Given the description of an element on the screen output the (x, y) to click on. 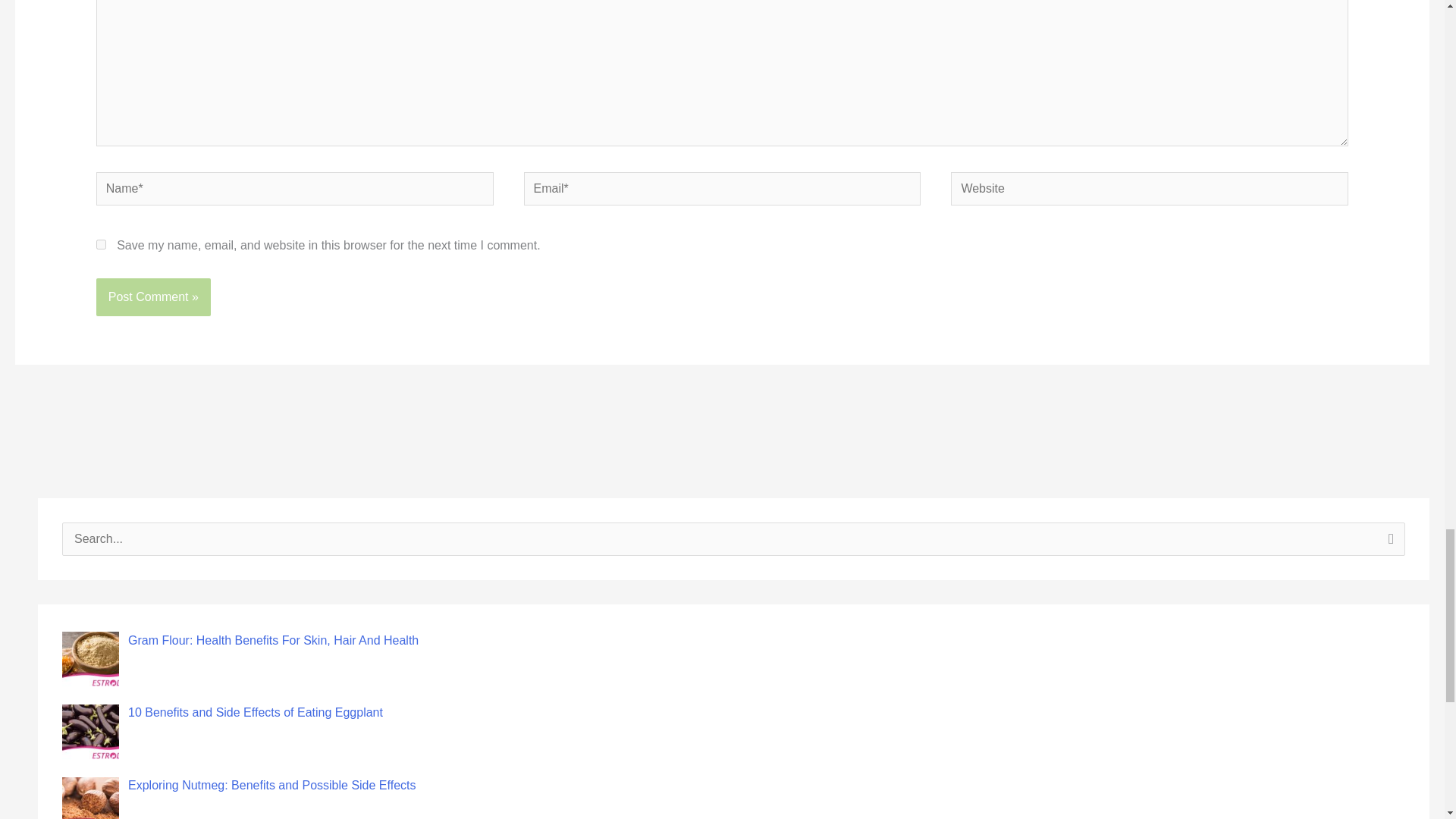
Exploring Nutmeg: Benefits and Possible Side Effects (271, 784)
Gram Flour: Health Benefits For Skin, Hair And Health (273, 640)
10 Benefits and Side Effects of Eating Eggplant (255, 712)
yes (101, 244)
